Given the description of an element on the screen output the (x, y) to click on. 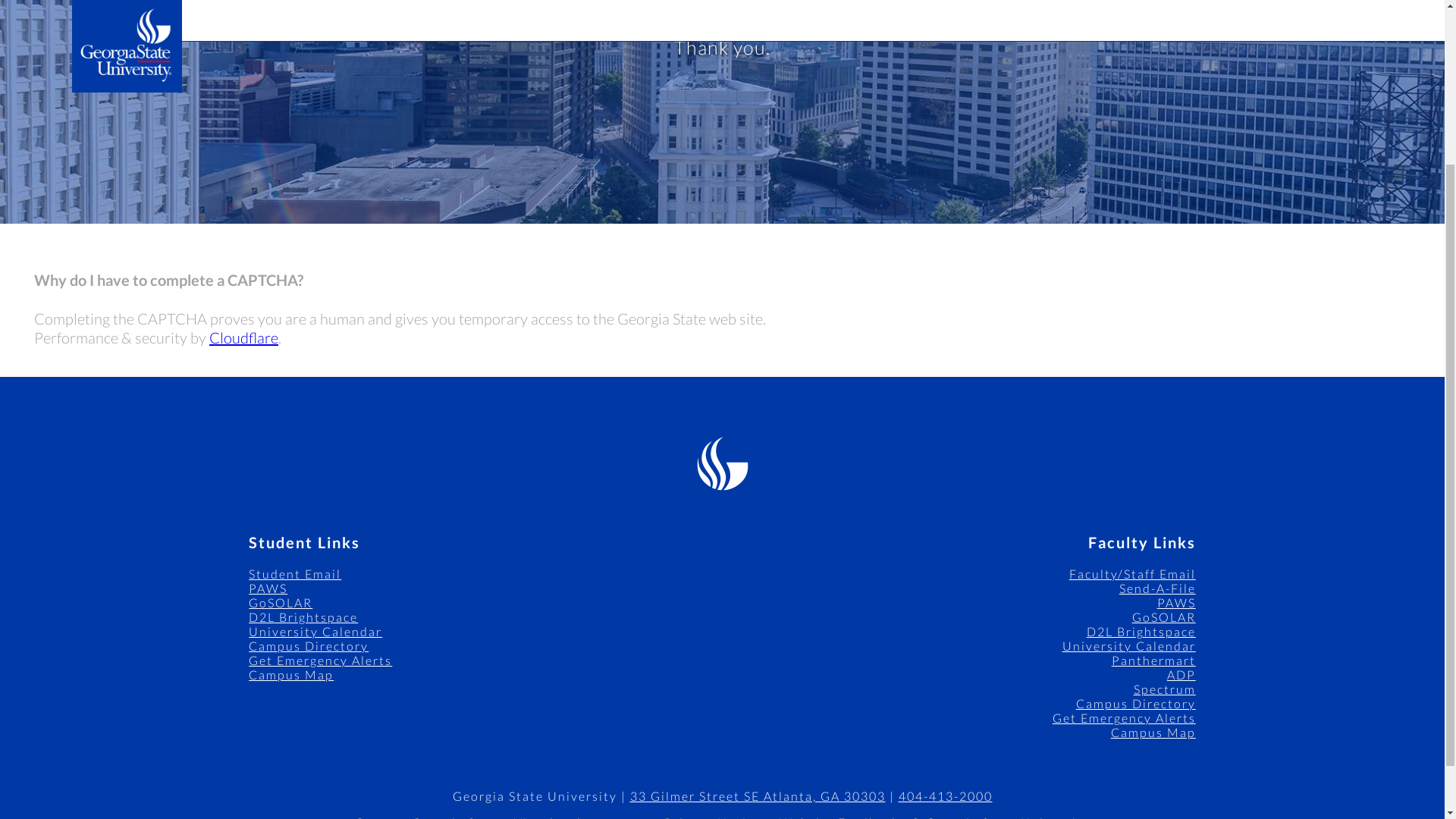
D2L Brightspace (1140, 631)
Campus Map (1152, 731)
Get Emergency Alerts (319, 659)
Campus Directory (308, 645)
D2L Brightspace (303, 616)
University Calendar (314, 631)
Send-A-File (1157, 587)
33 Gilmer Street SE Atlanta, GA 30303 (756, 795)
Get Emergency Alerts (1123, 717)
ADP (1181, 674)
